Given the description of an element on the screen output the (x, y) to click on. 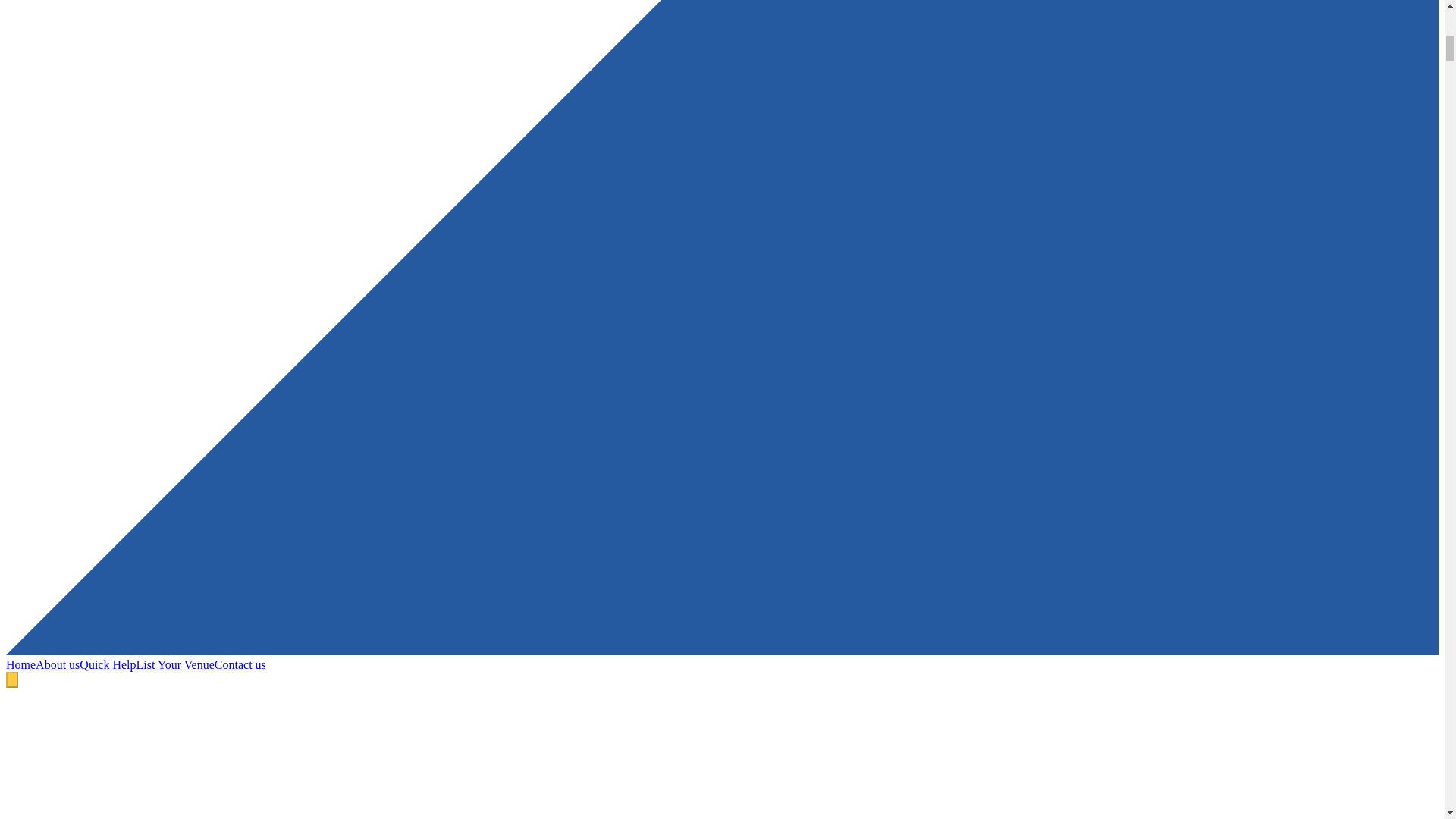
About us (57, 664)
Quick Help (107, 664)
List Your Venue (175, 664)
List Your Venue (175, 664)
Home (19, 664)
Quick Help (107, 664)
Contact us (240, 664)
About us (57, 664)
Home (19, 664)
Contact us (240, 664)
